Given the description of an element on the screen output the (x, y) to click on. 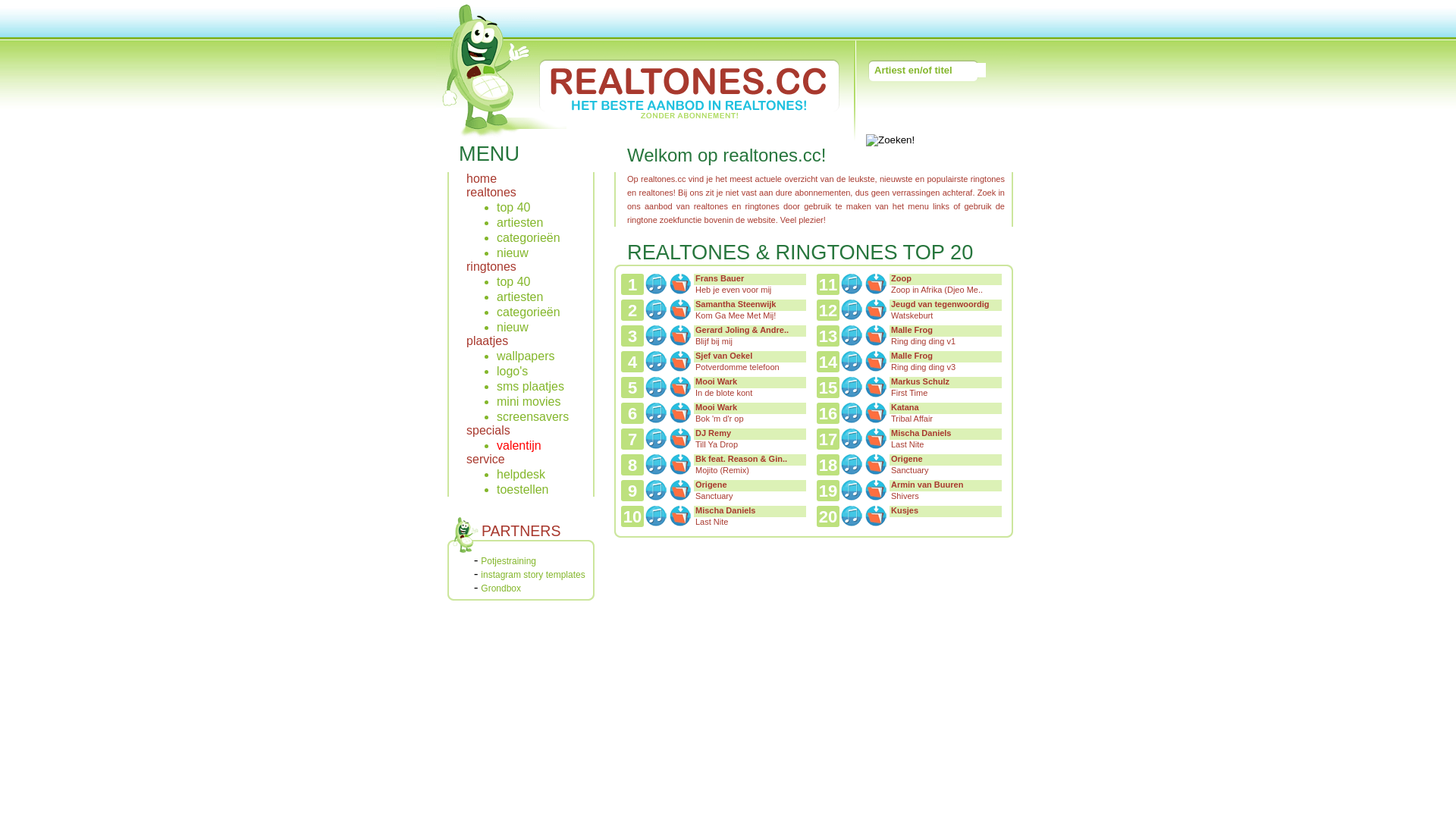
top 40 Element type: text (513, 281)
Gerard Joling & Andre.. Element type: text (741, 329)
Mooi Wark Element type: text (716, 406)
home Element type: text (481, 178)
Zoop Element type: text (901, 277)
Kusjes Element type: text (904, 509)
realtones Element type: text (491, 191)
Ring ding ding v1 Element type: text (923, 340)
Till Ya Drop Element type: text (716, 443)
Heb je even voor mij Element type: text (733, 289)
Frans Bauer Element type: text (719, 277)
Sanctuary Element type: text (909, 469)
Potjestraining Element type: text (508, 560)
Markus Schulz Element type: text (920, 380)
ringtones Element type: text (491, 266)
valentijn Element type: text (518, 445)
Tribal Affair Element type: text (911, 418)
Kom Ga Mee Met Mij! Element type: text (735, 315)
Last Nite Element type: text (907, 443)
Mischa Daniels Element type: text (920, 432)
Sjef van Oekel Element type: text (723, 355)
sms plaatjes Element type: text (530, 385)
Shivers Element type: text (905, 495)
Watskeburt Element type: text (911, 315)
Origene Element type: text (906, 458)
artiesten Element type: text (519, 296)
instagram story templates Element type: text (532, 574)
plaatjes Element type: text (487, 340)
Bk feat. Reason & Gin.. Element type: text (741, 458)
DJ Remy Element type: text (713, 432)
Zoop in Afrika (Djeo Me.. Element type: text (936, 289)
Origene Element type: text (711, 484)
screensavers Element type: text (532, 416)
Katana Element type: text (905, 406)
Armin van Buuren Element type: text (927, 484)
Ring ding ding v3 Element type: text (923, 366)
service Element type: text (485, 458)
Potverdomme telefoon Element type: text (737, 366)
nieuw Element type: text (512, 252)
Mooi Wark Element type: text (716, 380)
Grondbox Element type: text (500, 588)
specials Element type: text (488, 429)
Blijf bij mij Element type: text (713, 340)
logo's Element type: text (511, 370)
First Time Element type: text (909, 392)
Last Nite Element type: text (711, 521)
helpdesk Element type: text (520, 473)
Malle Frog Element type: text (911, 355)
mini movies Element type: text (528, 401)
nieuw Element type: text (512, 326)
Mischa Daniels Element type: text (725, 509)
In de blote kont Element type: text (723, 392)
Sanctuary Element type: text (714, 495)
toestellen Element type: text (522, 489)
top 40 Element type: text (513, 206)
Jeugd van tegenwoordig Element type: text (940, 303)
wallpapers Element type: text (525, 355)
Bok 'm d'r op Element type: text (719, 418)
artiesten Element type: text (519, 222)
Samantha Steenwijk Element type: text (735, 303)
Malle Frog Element type: text (911, 329)
Advertisement Element type: hover (811, 581)
Mojito (Remix) Element type: text (722, 469)
